Given the description of an element on the screen output the (x, y) to click on. 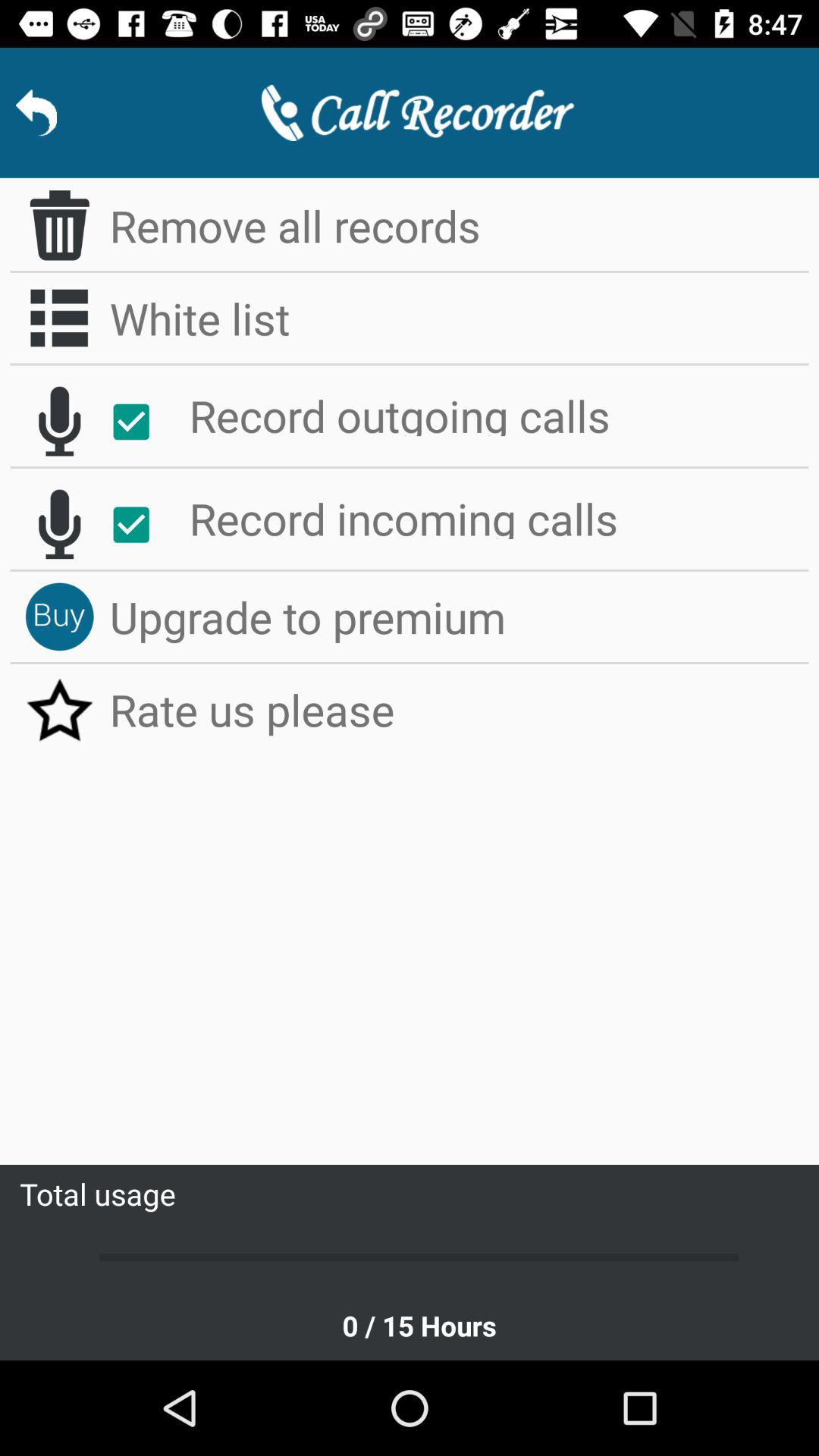
click to undo your chocie (59, 524)
